Given the description of an element on the screen output the (x, y) to click on. 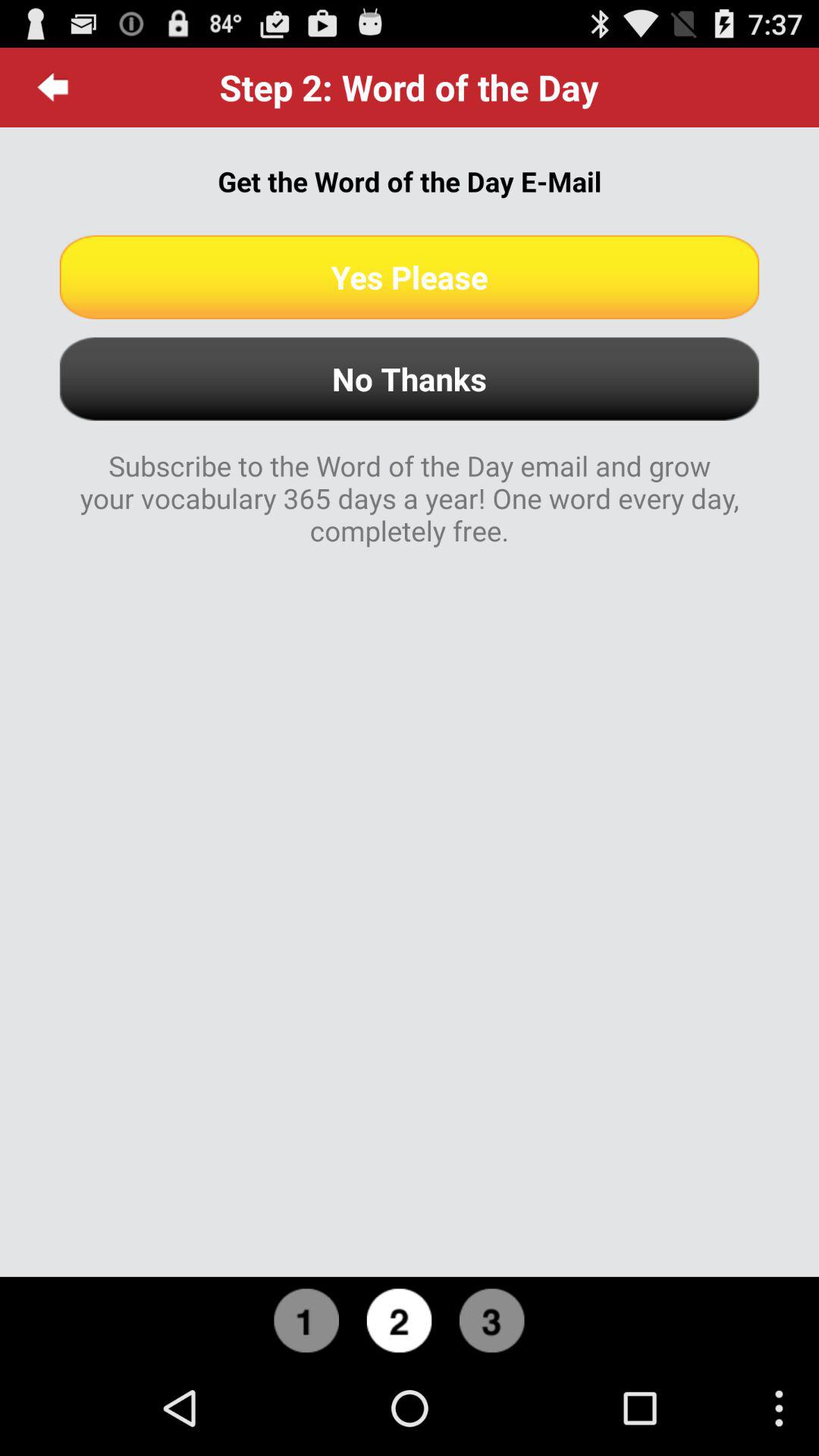
jump to no thanks button (409, 378)
